Given the description of an element on the screen output the (x, y) to click on. 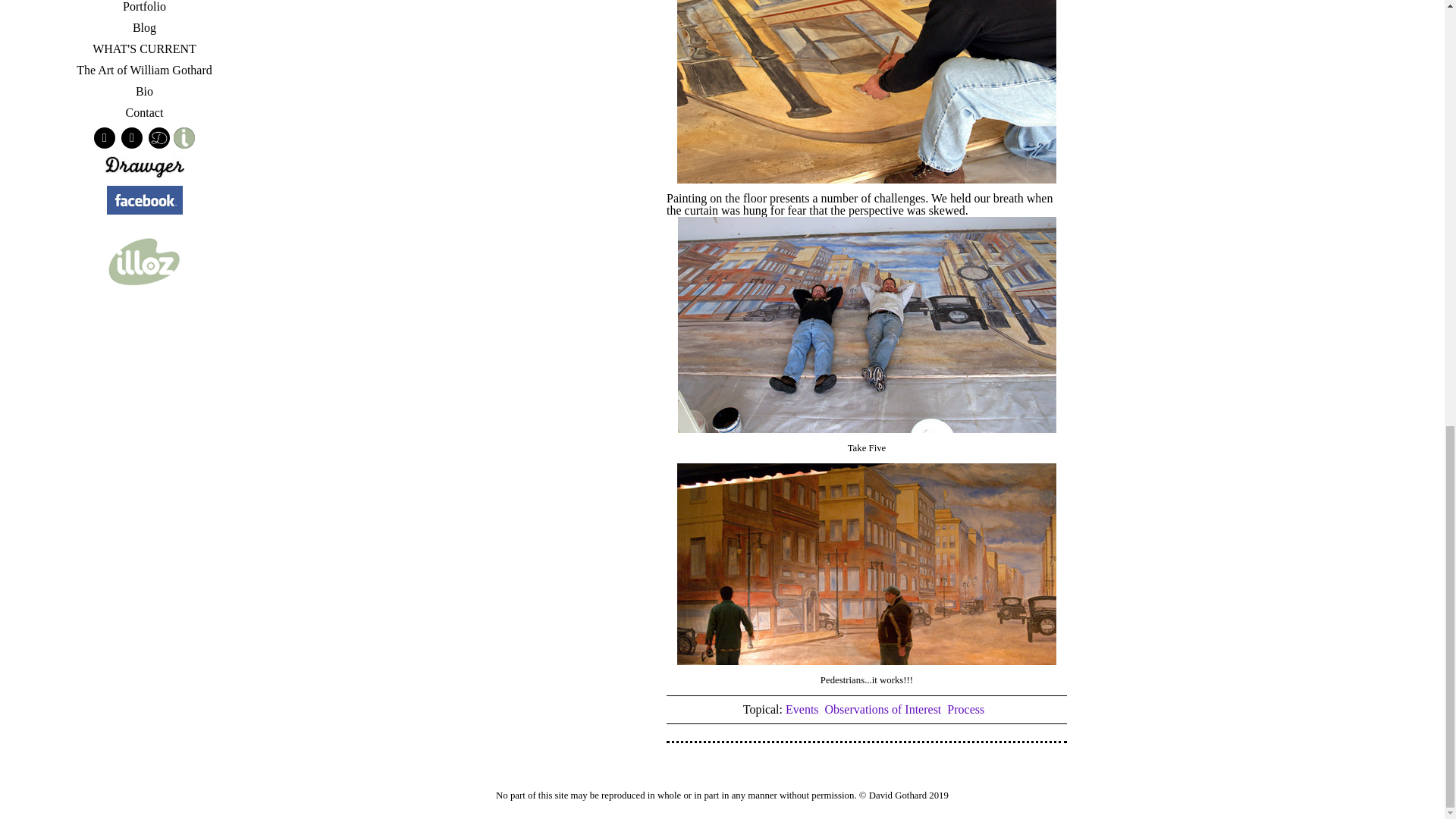
Events (802, 708)
Process (965, 708)
Observations of Interest (883, 708)
